Given the description of an element on the screen output the (x, y) to click on. 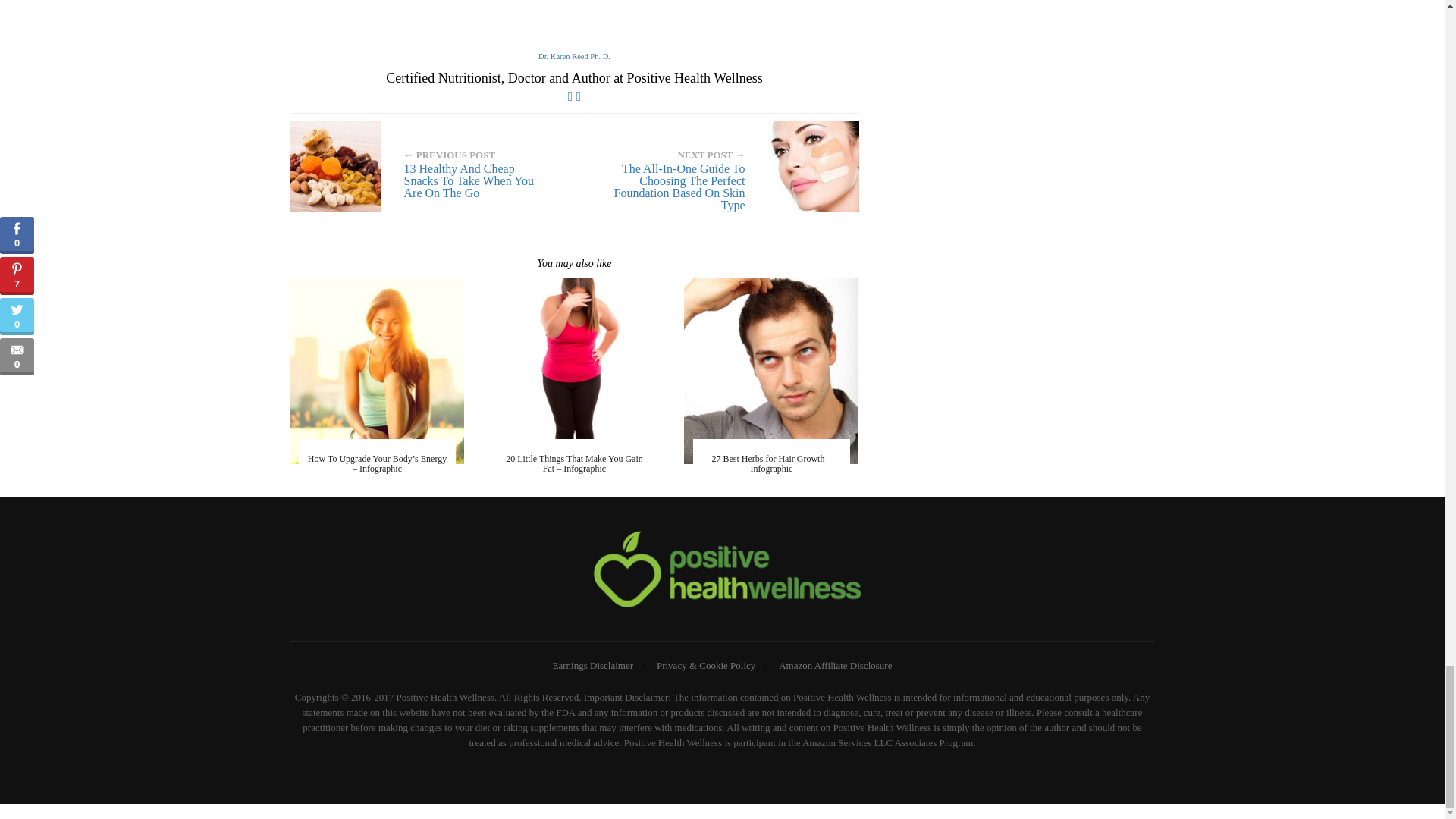
Posts by Dr. Karen Reed Ph. D. (574, 56)
13 Healthy And Cheap Snacks To Take When You Are On The Go (425, 166)
Amazon Affiliate Disclosure (835, 665)
Researched and Credible Health Advice (721, 571)
Dr. Karen Reed Ph. D. (574, 56)
Earnings Disclaimer (593, 665)
